Given the description of an element on the screen output the (x, y) to click on. 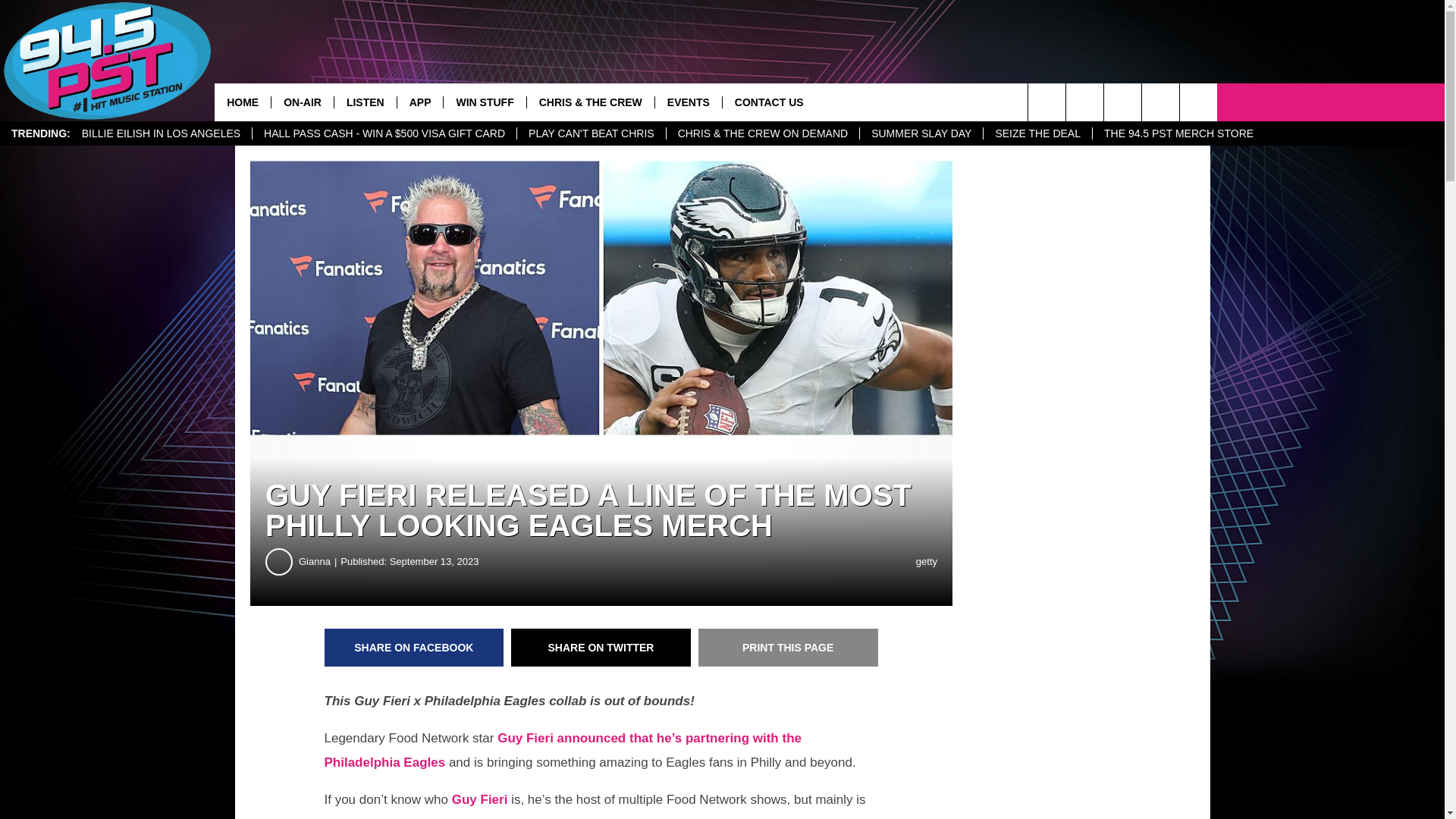
HOME (242, 102)
Share on Facebook (413, 647)
SUMMER SLAY DAY (920, 133)
BILLIE EILISH IN LOS ANGELES (160, 133)
SEIZE THE DEAL (1037, 133)
LISTEN (364, 102)
PLAY CAN'T BEAT CHRIS (590, 133)
WIN STUFF (483, 102)
Share on Twitter (600, 647)
ON-AIR (301, 102)
THE 94.5 PST MERCH STORE (1178, 133)
APP (420, 102)
Print this page (787, 647)
